Given the description of an element on the screen output the (x, y) to click on. 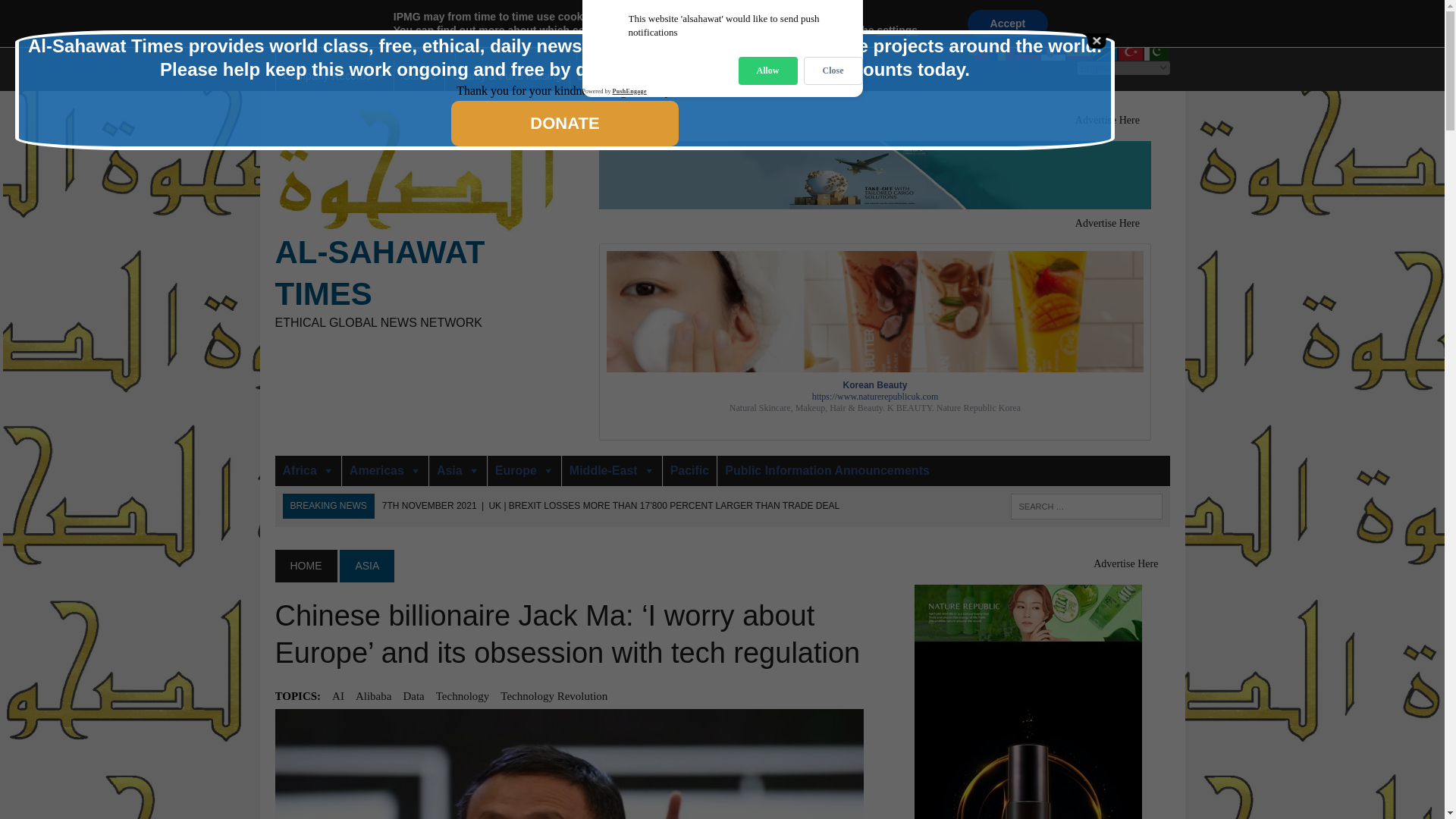
Donate (595, 75)
Filipino (872, 31)
Code Of Ethics (370, 15)
Company Records (335, 75)
Games (419, 75)
Deutsch (924, 31)
TUKI Encyclopedia (515, 45)
Become A Journalist (560, 15)
English (847, 31)
Classifieds (609, 45)
Careers (643, 15)
Polski (1155, 31)
Afrikaans (743, 31)
Hrvatski (821, 31)
Contact (300, 15)
